Given the description of an element on the screen output the (x, y) to click on. 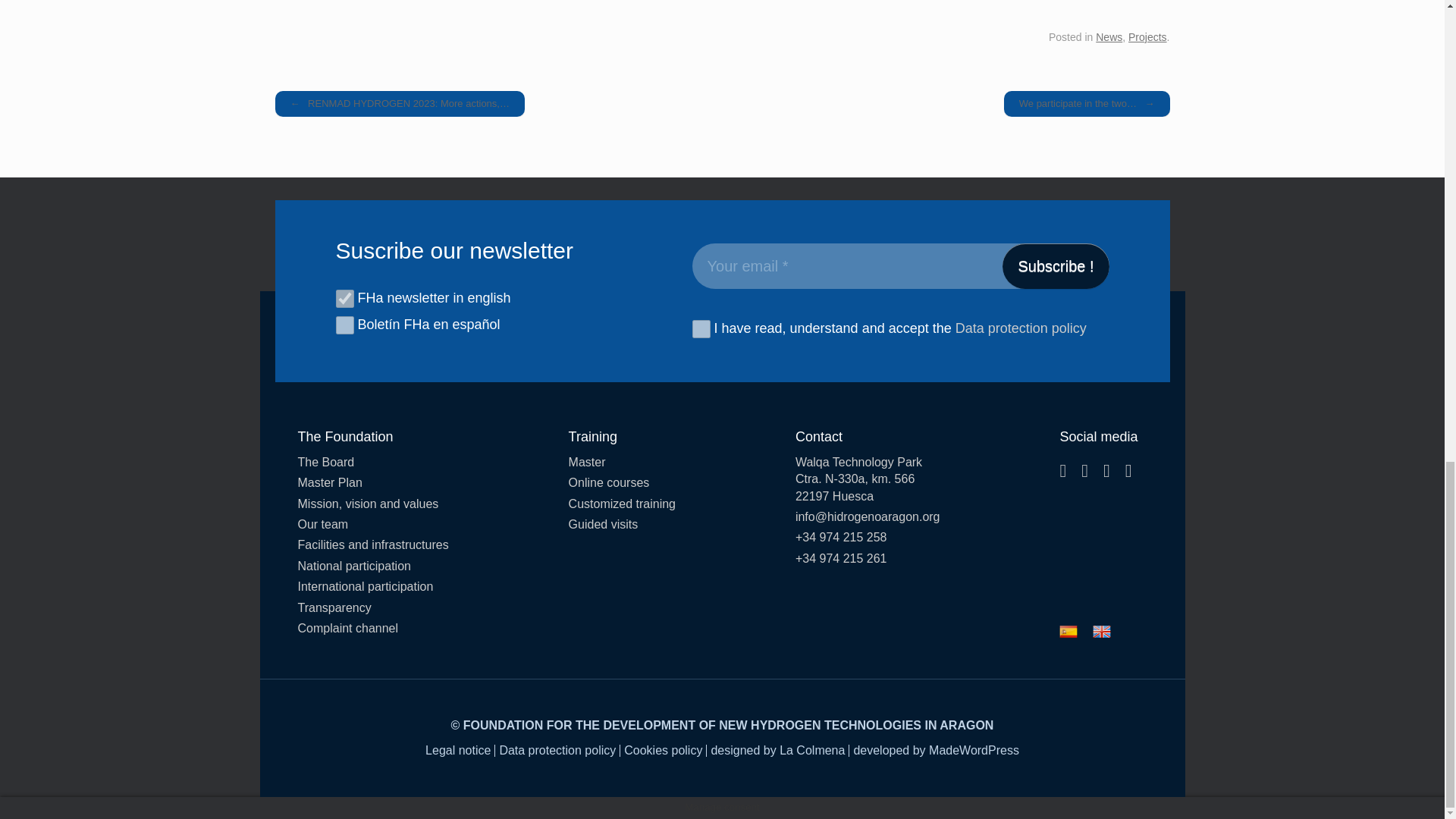
Subscribe ! (1055, 266)
3 (343, 325)
Your email (899, 266)
Data protection policy (1020, 328)
The Board (372, 462)
9 (343, 298)
News (1109, 37)
Subscribe ! (1055, 266)
Projects (1147, 37)
1 (700, 329)
